Given the description of an element on the screen output the (x, y) to click on. 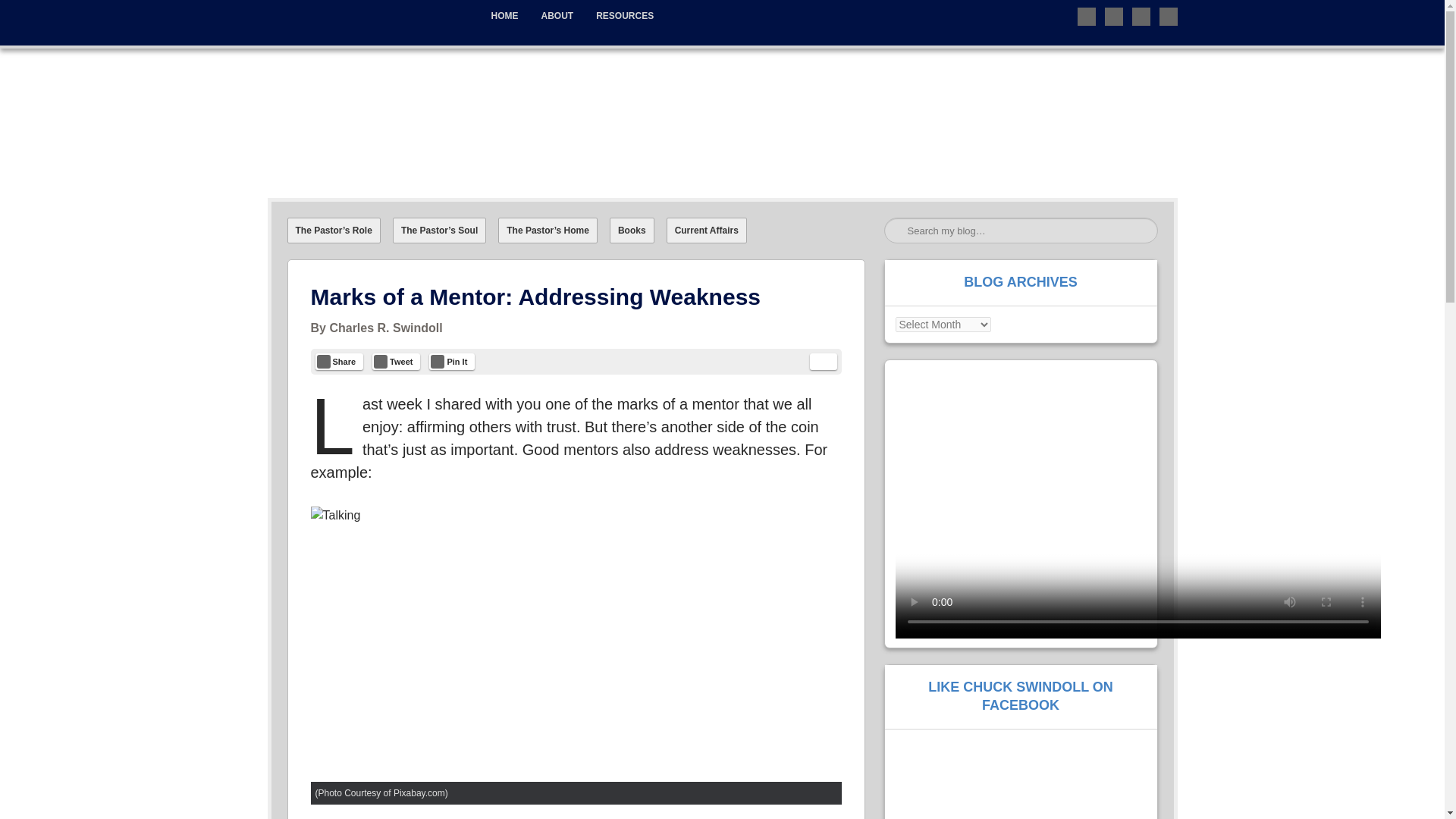
Tweet (396, 361)
Like me on Facebook (1112, 16)
Tweet this Post (396, 361)
Pin it. (451, 361)
The Pastor's Blog (368, 62)
HOME (504, 15)
Check out my YouTube channel (1140, 16)
Follow me on Twitter (1085, 16)
Subscribe to my RSS Feed (1167, 16)
ABOUT (557, 15)
Search (33, 17)
Current Affairs (706, 230)
Books (631, 230)
The Pastor's Blog (368, 62)
Share on Facebook (339, 361)
